Given the description of an element on the screen output the (x, y) to click on. 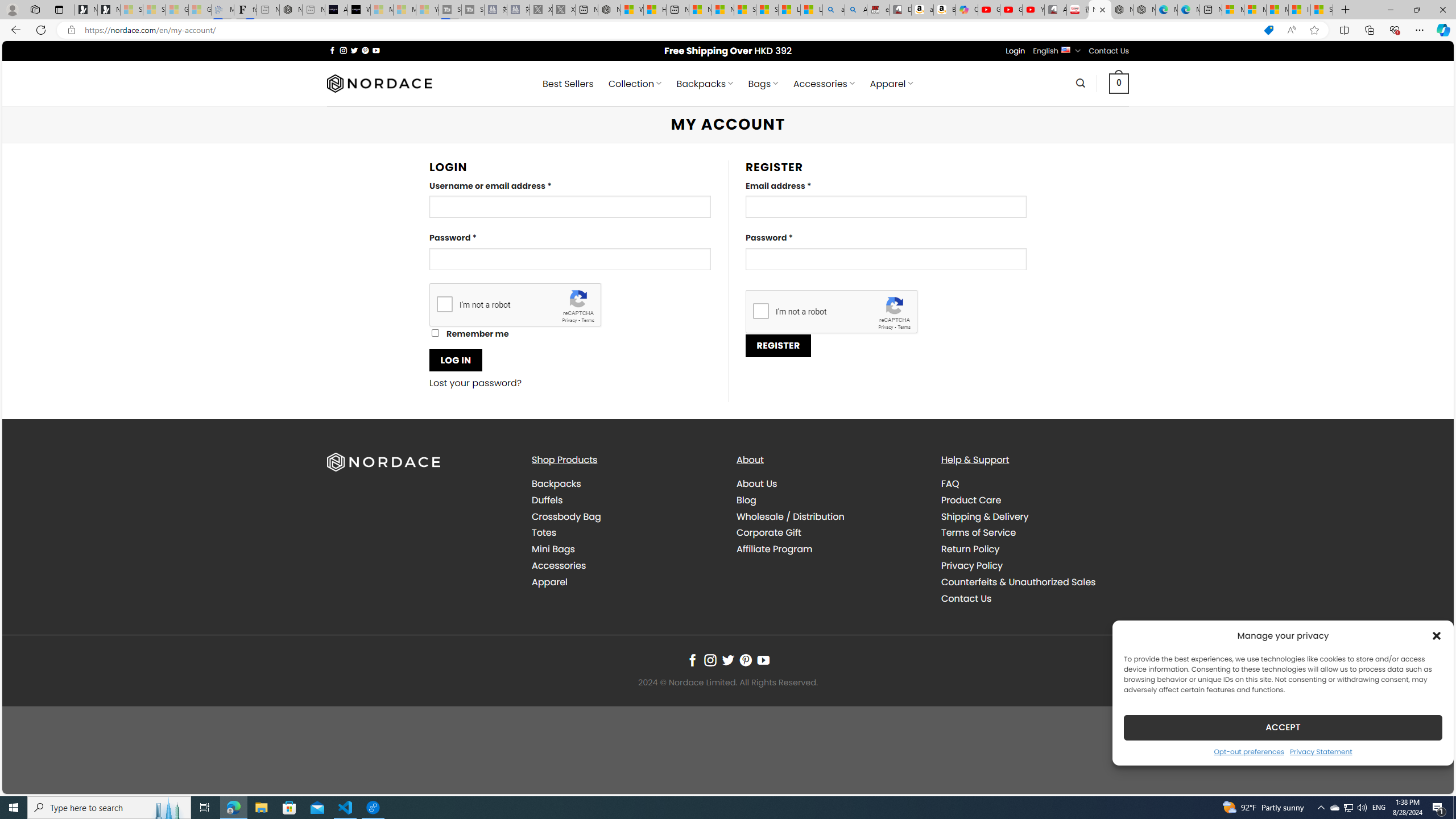
Apparel (625, 581)
YouTube Kids - An App Created for Kids to Explore Content (1033, 9)
  Best Sellers (568, 83)
Mini Bags (553, 549)
This site has coupons! Shopping in Microsoft Edge (1268, 29)
Counterfeits & Unauthorized Sales (1034, 581)
Lost your password? (475, 382)
